Given the description of an element on the screen output the (x, y) to click on. 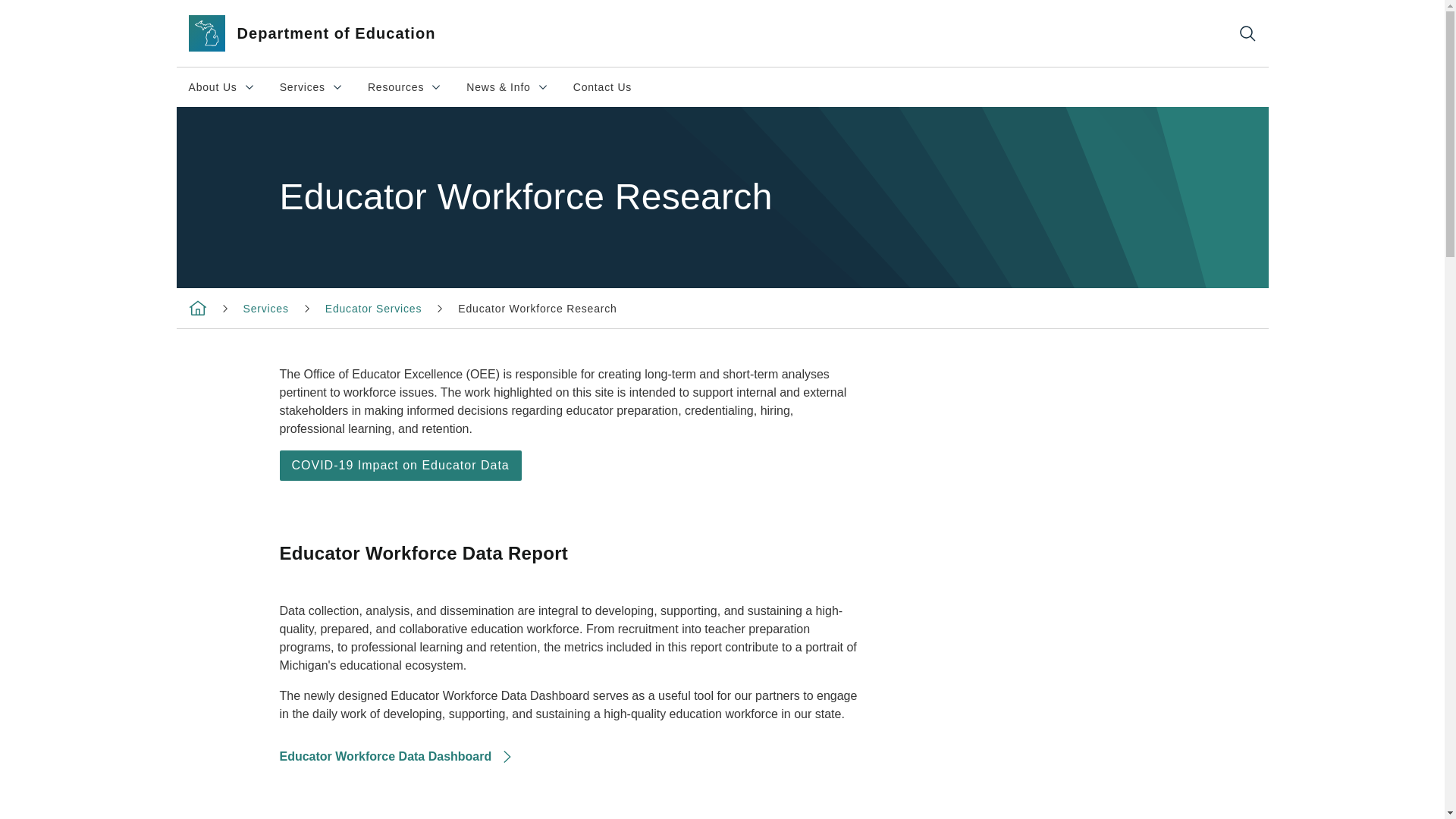
Department of Education (404, 87)
Educator Services (329, 33)
Educator Workforce Research (373, 308)
Contact Us (536, 308)
Michigan Department of Education (221, 87)
Services (601, 87)
